Given the description of an element on the screen output the (x, y) to click on. 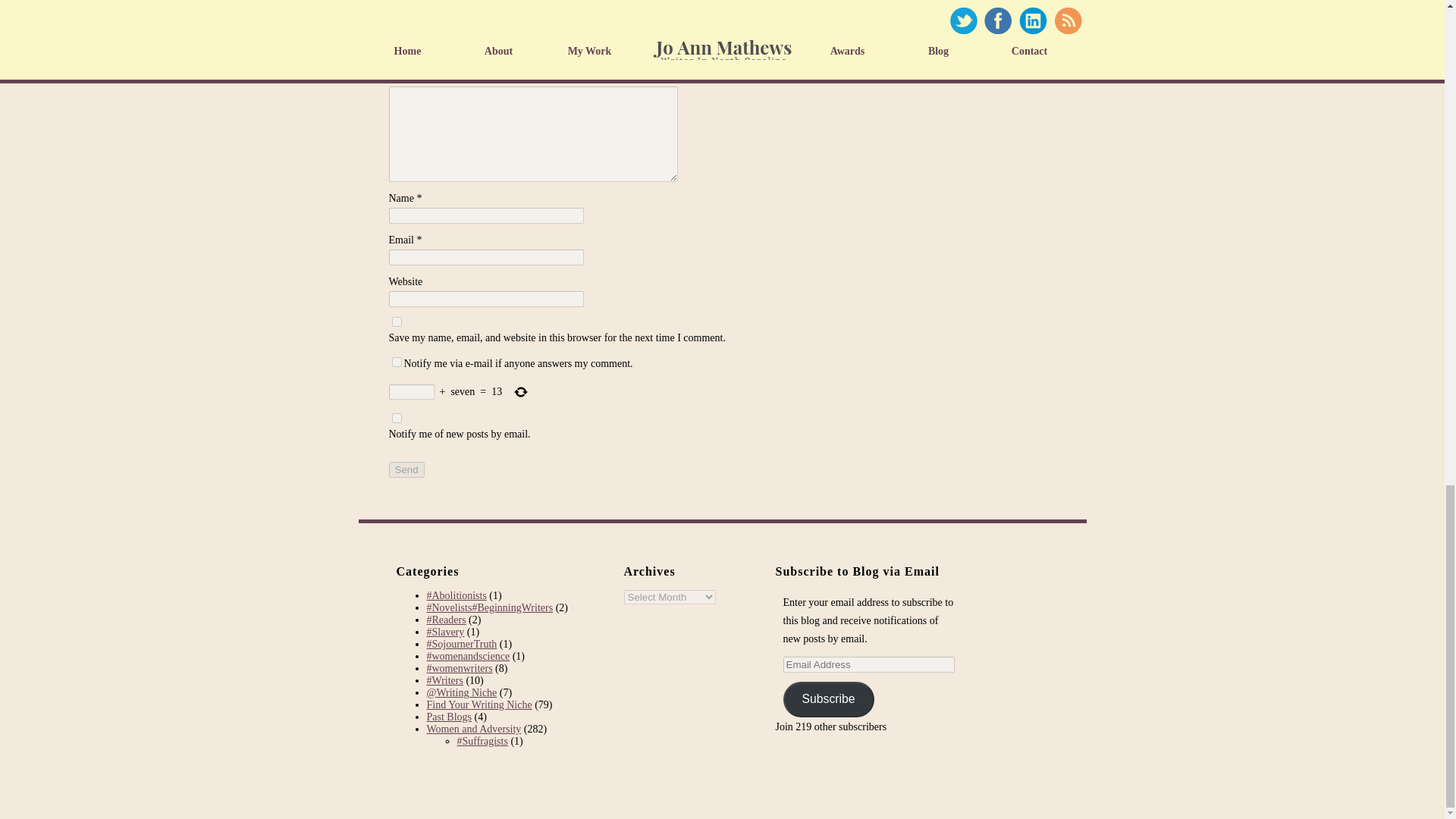
Past Blogs (448, 716)
Send (405, 469)
Women and Adversity (473, 728)
on (396, 361)
Send (405, 469)
Find Your Writing Niche (478, 704)
Subscribe (828, 699)
subscribe (396, 418)
yes (396, 321)
